Given the description of an element on the screen output the (x, y) to click on. 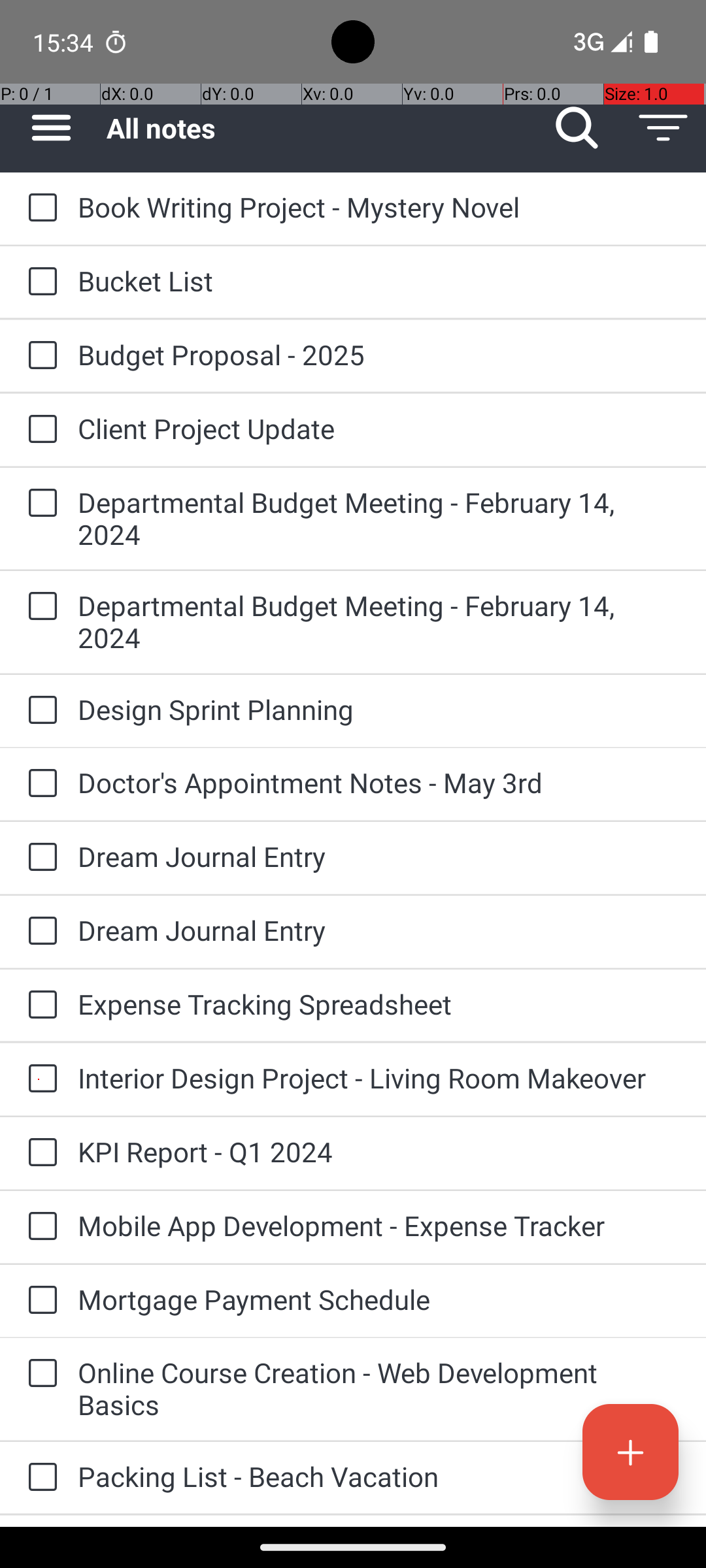
to-do: Book Writing Project - Mystery Novel Element type: android.widget.CheckBox (38, 208)
Book Writing Project - Mystery Novel Element type: android.widget.TextView (378, 206)
to-do: Bucket List Element type: android.widget.CheckBox (38, 282)
Bucket List Element type: android.widget.TextView (378, 280)
to-do: Budget Proposal - 2025 Element type: android.widget.CheckBox (38, 356)
Budget Proposal - 2025 Element type: android.widget.TextView (378, 354)
to-do: Departmental Budget Meeting - February 14, 2024 Element type: android.widget.CheckBox (38, 503)
Departmental Budget Meeting - February 14, 2024 Element type: android.widget.TextView (378, 517)
to-do: Doctor's Appointment Notes - May 3rd Element type: android.widget.CheckBox (38, 783)
Doctor's Appointment Notes - May 3rd Element type: android.widget.TextView (378, 781)
to-do: Dream Journal Entry Element type: android.widget.CheckBox (38, 857)
Dream Journal Entry Element type: android.widget.TextView (378, 855)
to-do: Expense Tracking Spreadsheet Element type: android.widget.CheckBox (38, 1005)
to-do: Interior Design Project - Living Room Makeover Element type: android.widget.CheckBox (38, 1079)
Interior Design Project - Living Room Makeover Element type: android.widget.TextView (378, 1077)
to-do: KPI Report - Q1 2024 Element type: android.widget.CheckBox (38, 1153)
to-do: Mortgage Payment Schedule Element type: android.widget.CheckBox (38, 1300)
Mortgage Payment Schedule Element type: android.widget.TextView (378, 1298)
to-do: Packing List - Beach Vacation Element type: android.widget.CheckBox (38, 1477)
Packing List - Beach Vacation Element type: android.widget.TextView (378, 1475)
to-do: Packing List - Summer Vacation Element type: android.widget.CheckBox (38, 1520)
